Given the description of an element on the screen output the (x, y) to click on. 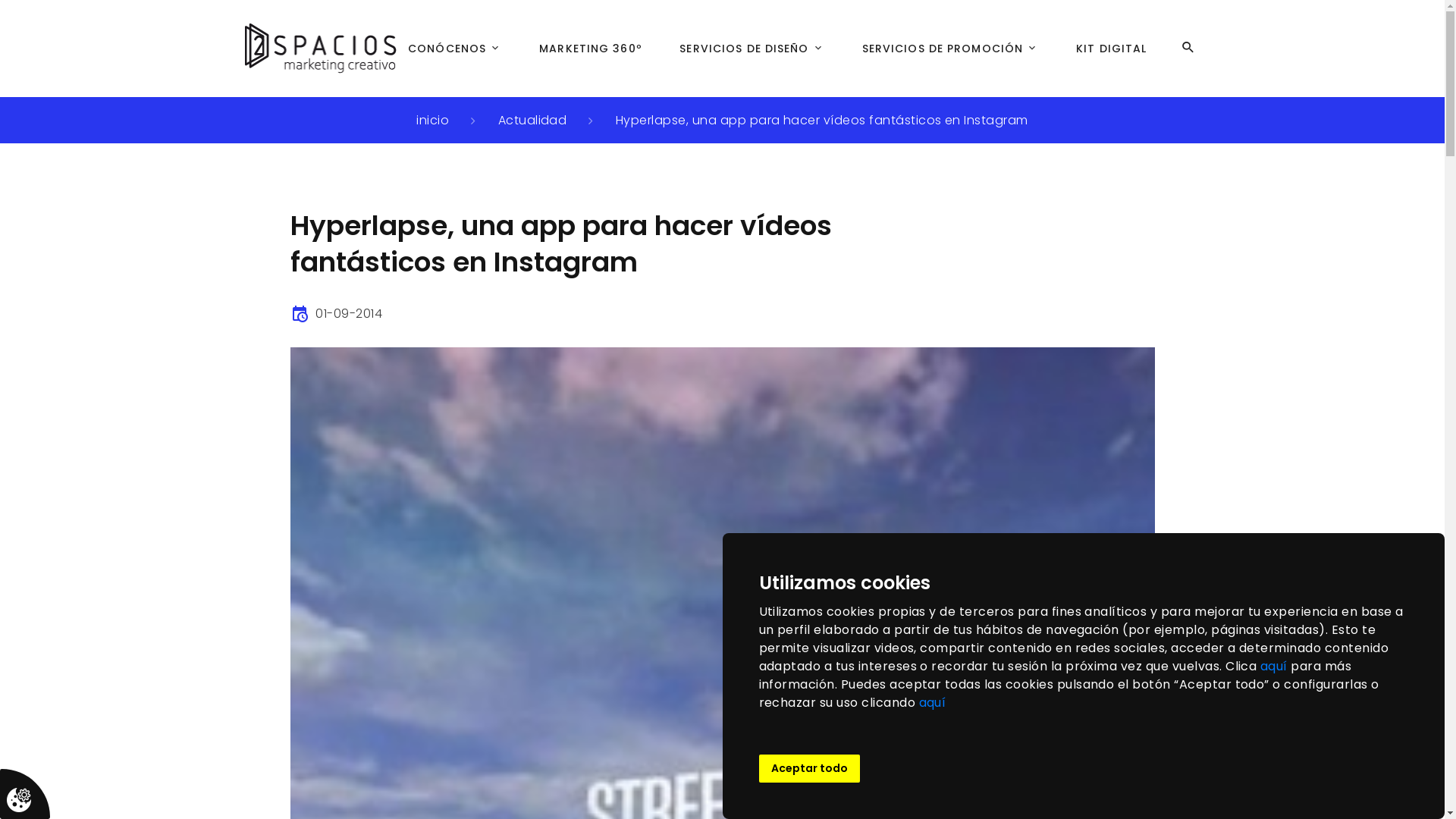
Aceptar todo Element type: text (808, 768)
Actualidad Element type: text (532, 119)
inicio Element type: text (432, 119)
KIT DIGITAL Element type: text (1111, 48)
